Given the description of an element on the screen output the (x, y) to click on. 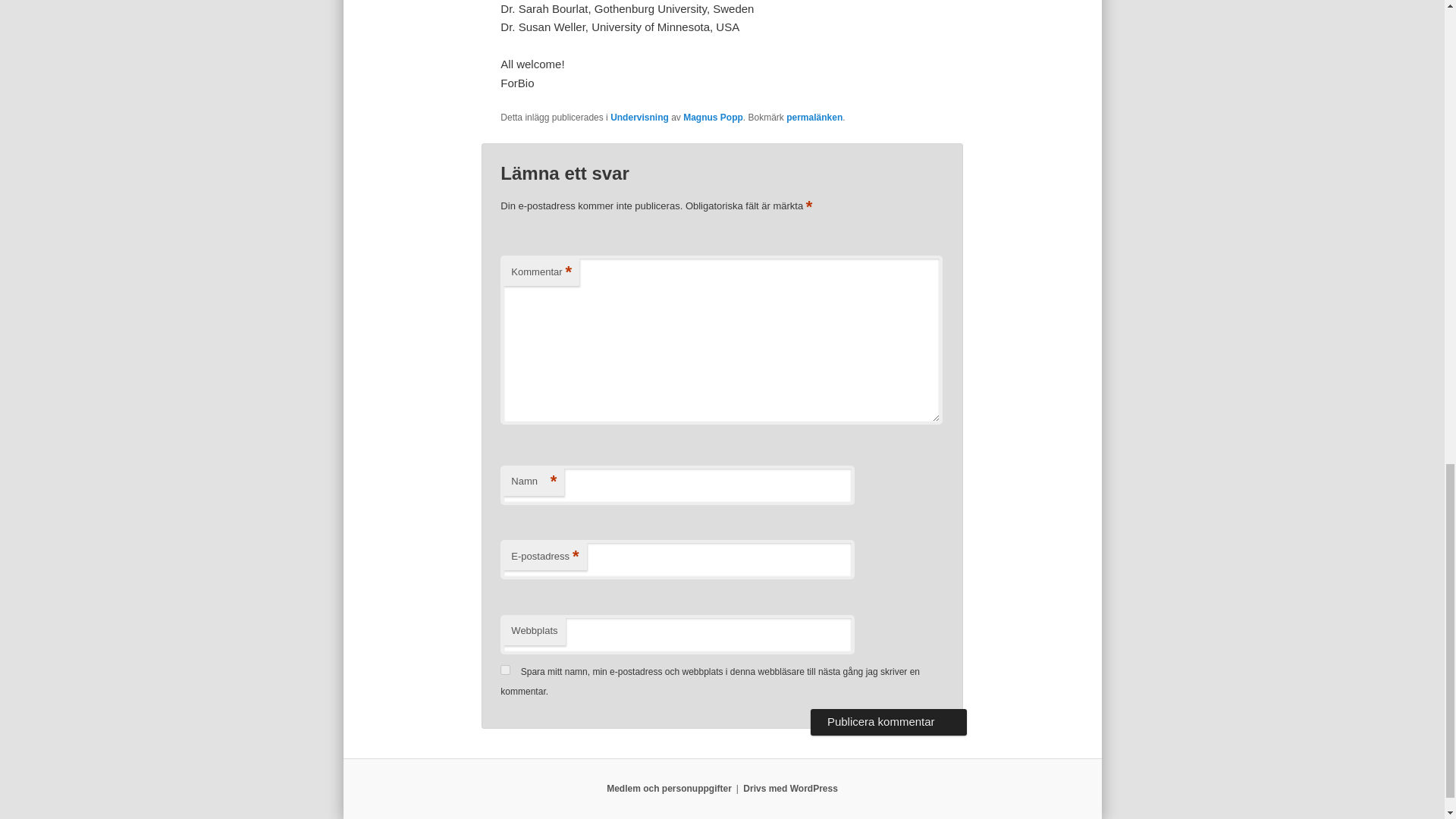
Semantisk personlig publiceringsplattform (790, 787)
Permalink to  (814, 117)
yes (505, 669)
Publicera kommentar (888, 721)
